Given the description of an element on the screen output the (x, y) to click on. 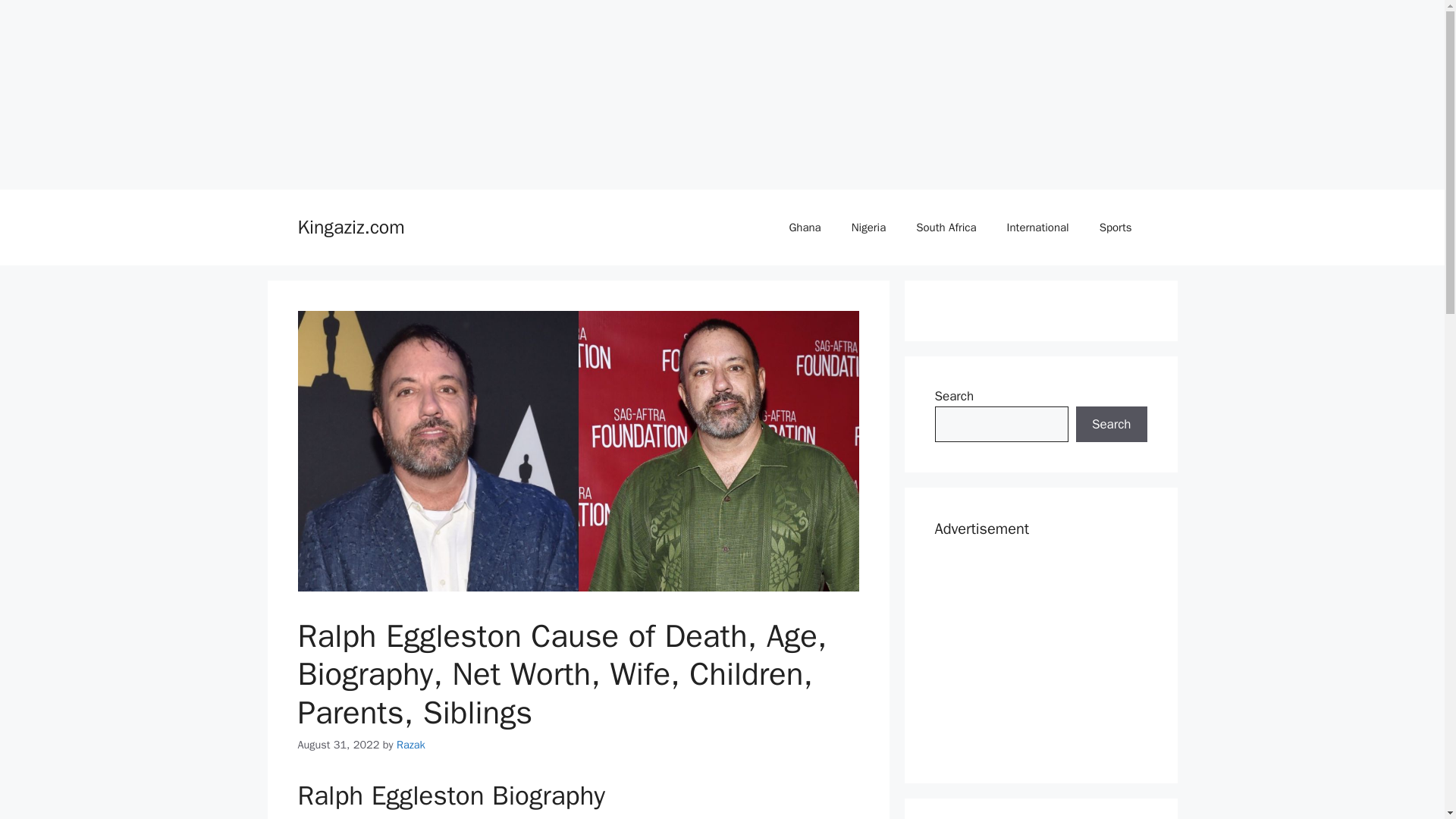
Nigeria (868, 227)
South Africa (946, 227)
Sports (1115, 227)
International (1037, 227)
Kingaziz.com (350, 227)
Ghana (804, 227)
Search (1111, 424)
Razak (410, 744)
View all posts by Razak (410, 744)
